Given the description of an element on the screen output the (x, y) to click on. 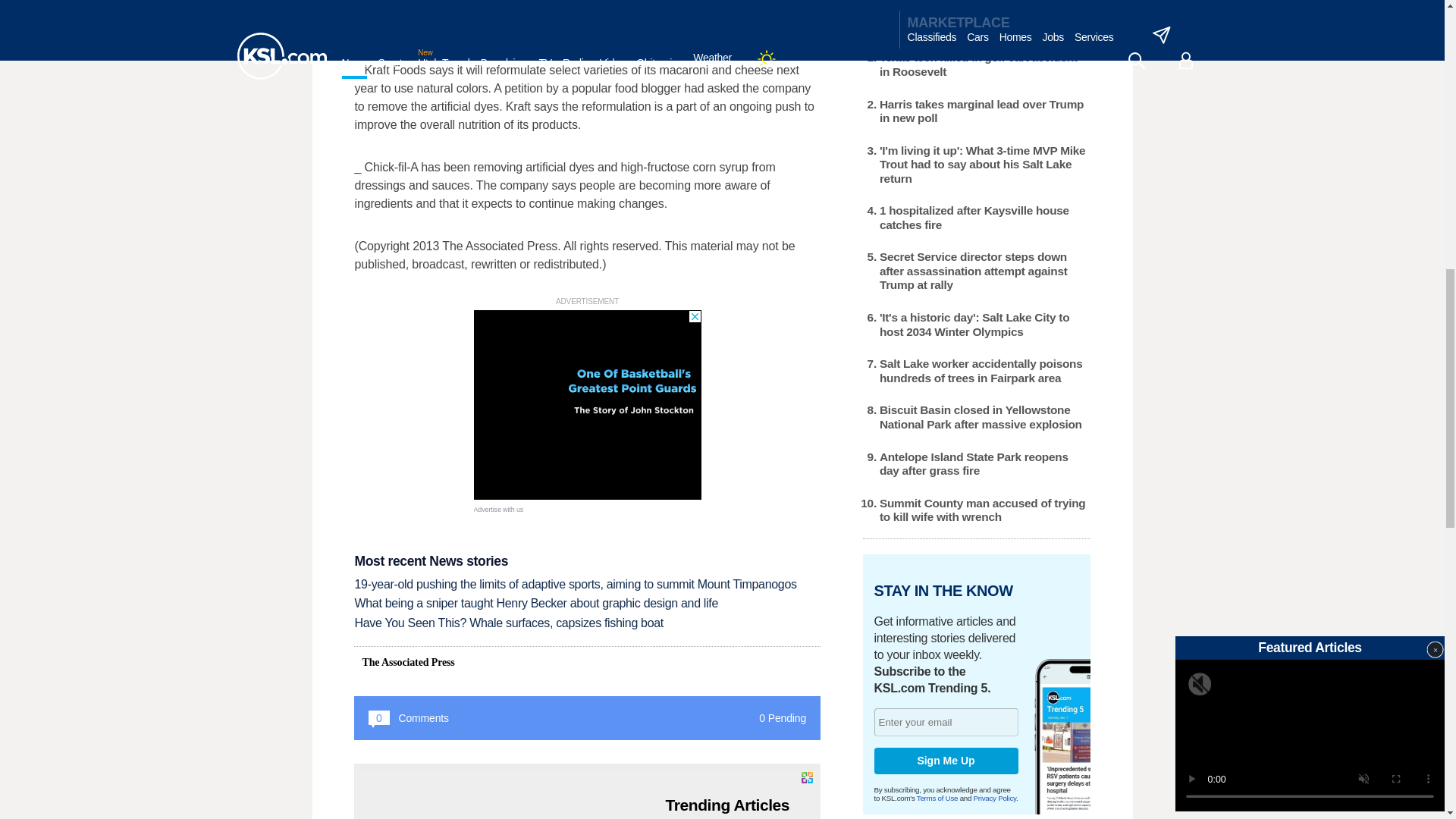
3rd party ad content (586, 404)
